Given the description of an element on the screen output the (x, y) to click on. 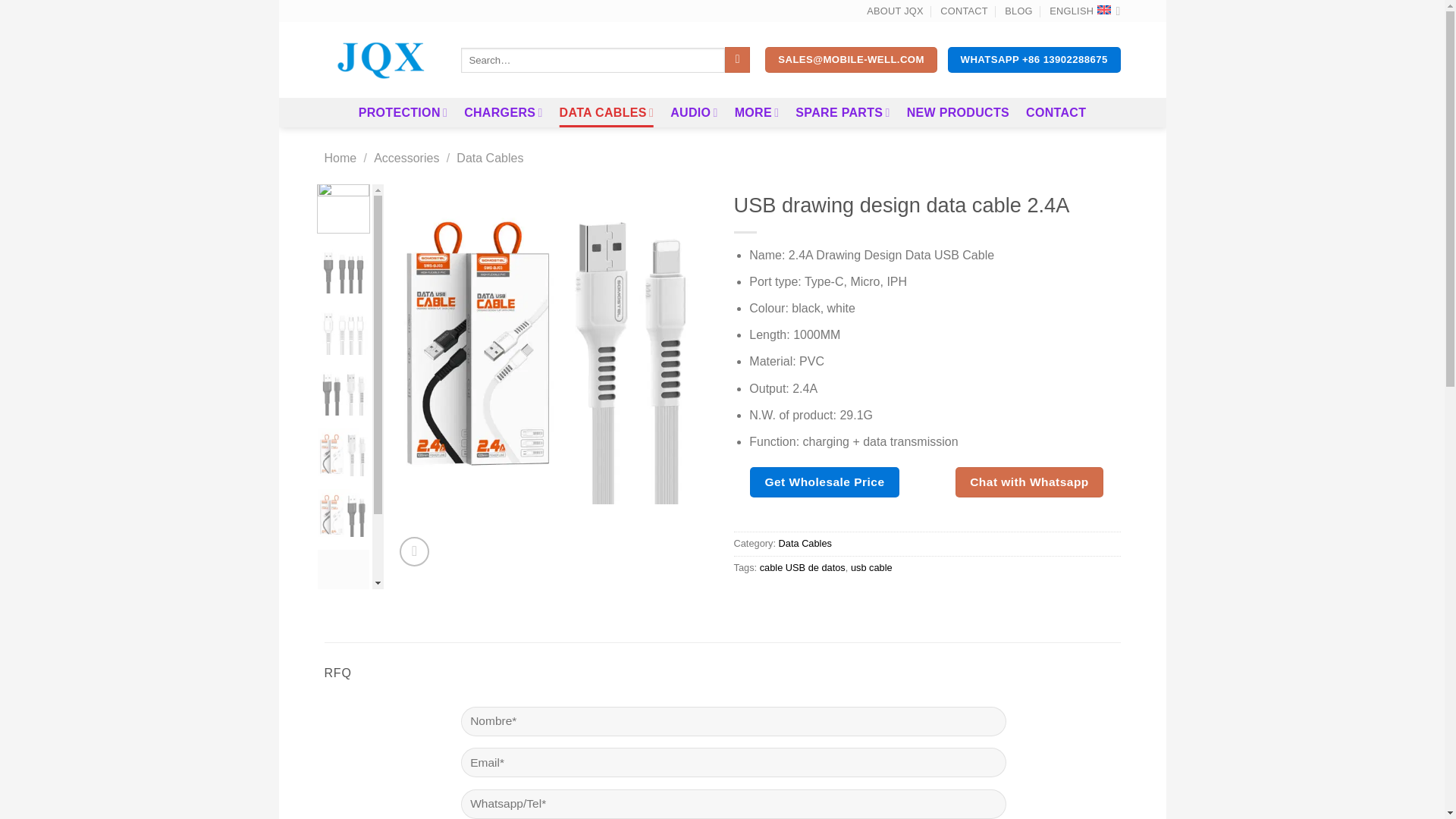
Search (737, 59)
PROTECTION (402, 112)
Zoom (413, 551)
MORE (756, 112)
AUDIO (693, 112)
USB drawing design data cable 2.4A 1 (551, 344)
Data Cables (489, 157)
Home (340, 157)
USB drawing design data cable 2.4A 11 (343, 393)
DATA CABLES (606, 112)
